Given the description of an element on the screen output the (x, y) to click on. 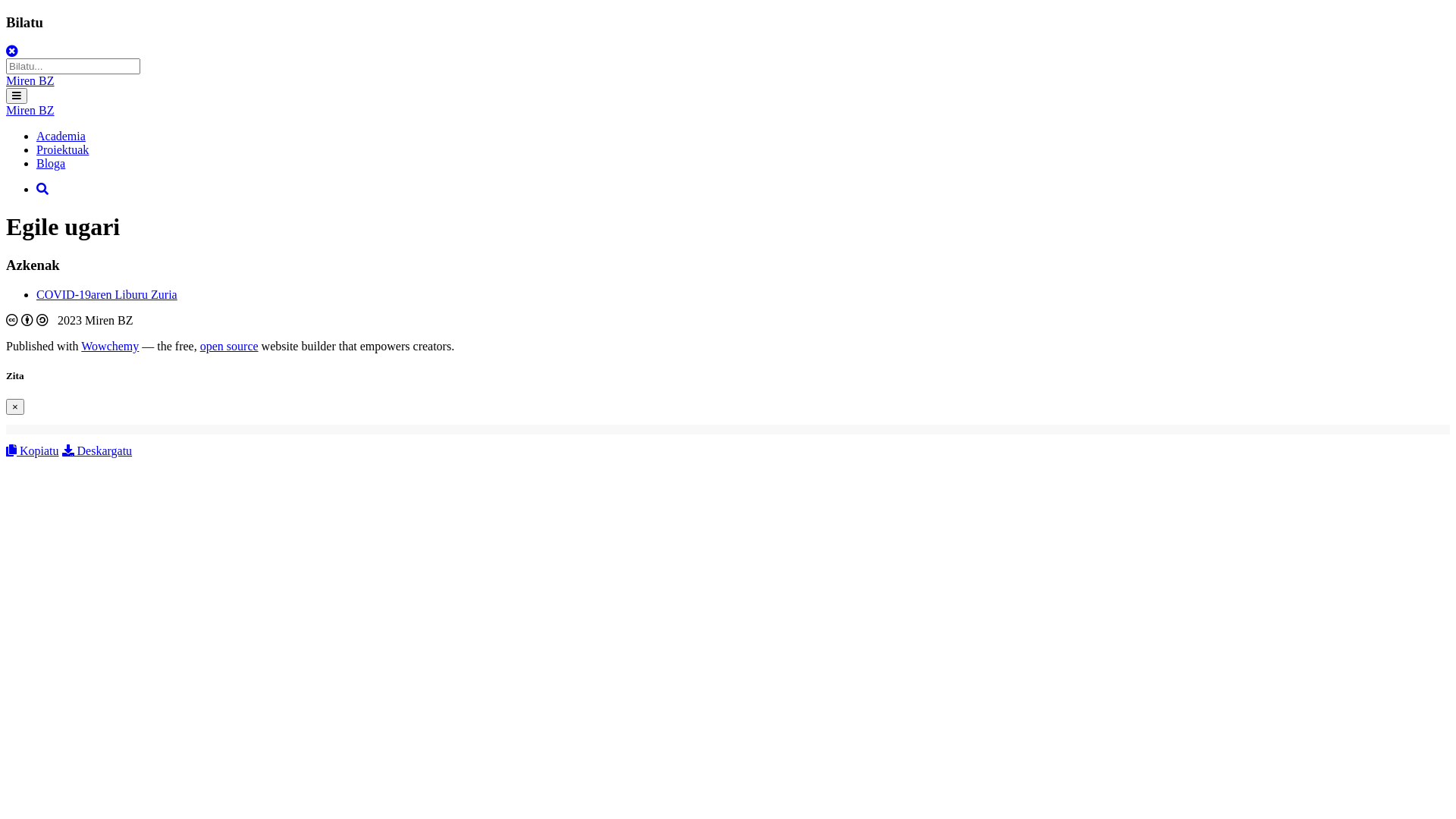
Bloga Element type: text (50, 162)
Proiektuak Element type: text (62, 149)
Wowchemy Element type: text (109, 345)
Miren BZ Element type: text (30, 80)
Academia Element type: text (60, 135)
Deskargatu Element type: text (97, 450)
open source Element type: text (229, 345)
Miren BZ Element type: text (30, 109)
Kopiatu Element type: text (32, 450)
COVID-19aren Liburu Zuria Element type: text (106, 294)
